Given the description of an element on the screen output the (x, y) to click on. 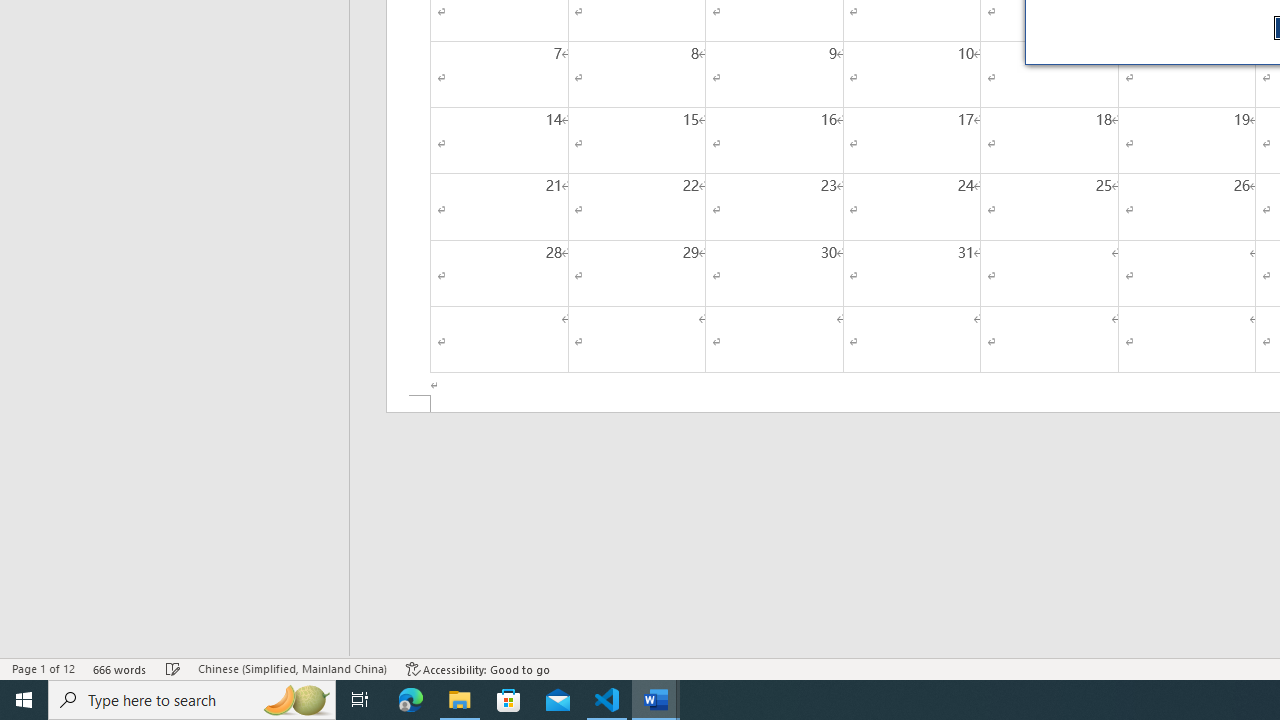
File Explorer - 1 running window (460, 699)
Accessibility Checker Accessibility: Good to go (478, 668)
Task View (359, 699)
Word Count 666 words (119, 668)
Visual Studio Code - 1 running window (607, 699)
Page Number Page 1 of 12 (43, 668)
Search highlights icon opens search home window (295, 699)
Start (24, 699)
Type here to search (191, 699)
Microsoft Store (509, 699)
Language Chinese (Simplified, Mainland China) (292, 668)
Word - 2 running windows (656, 699)
Spelling and Grammar Check Checking (173, 668)
Microsoft Edge (411, 699)
